Given the description of an element on the screen output the (x, y) to click on. 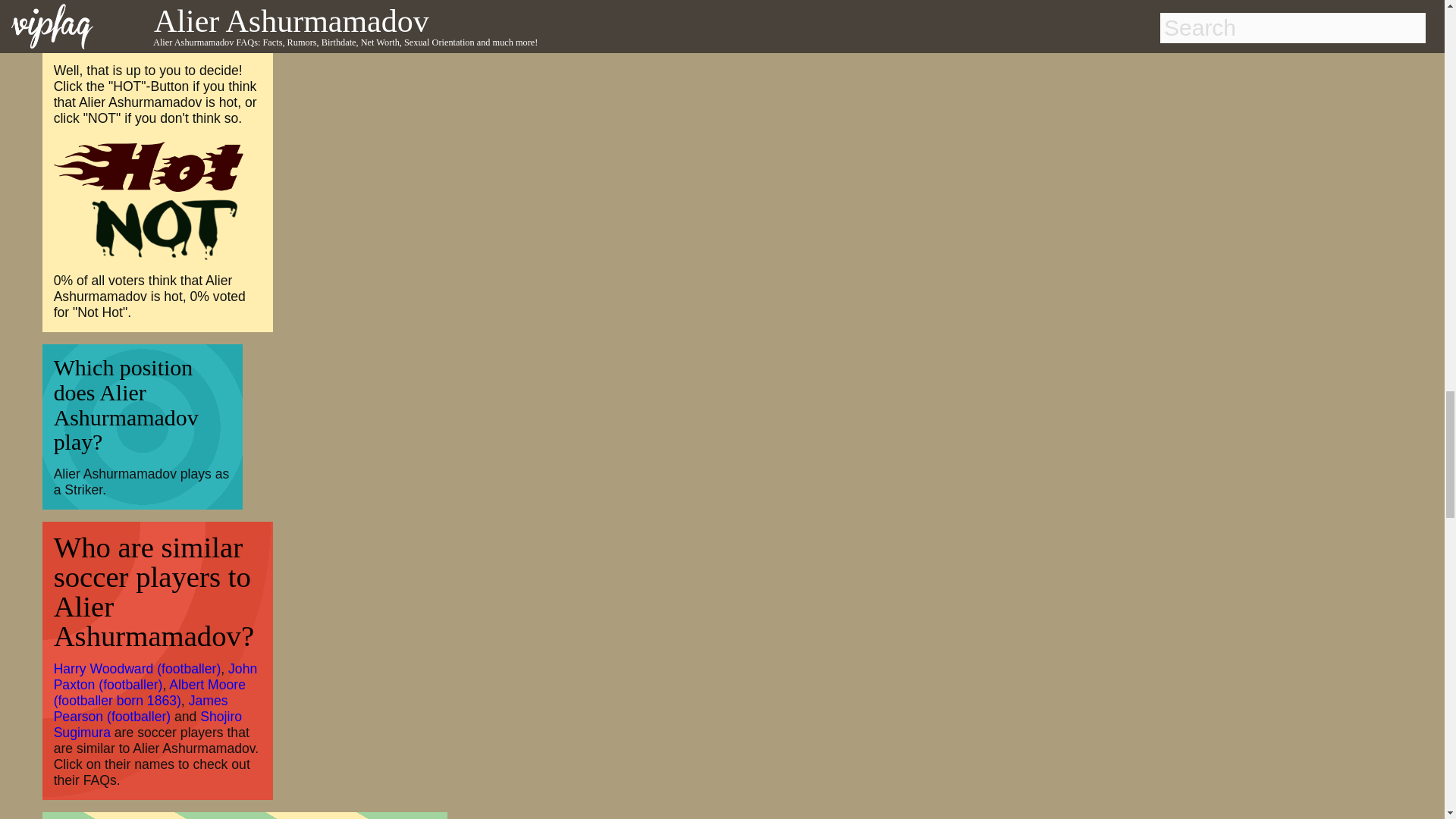
Shojiro Sugimura (147, 723)
